Given the description of an element on the screen output the (x, y) to click on. 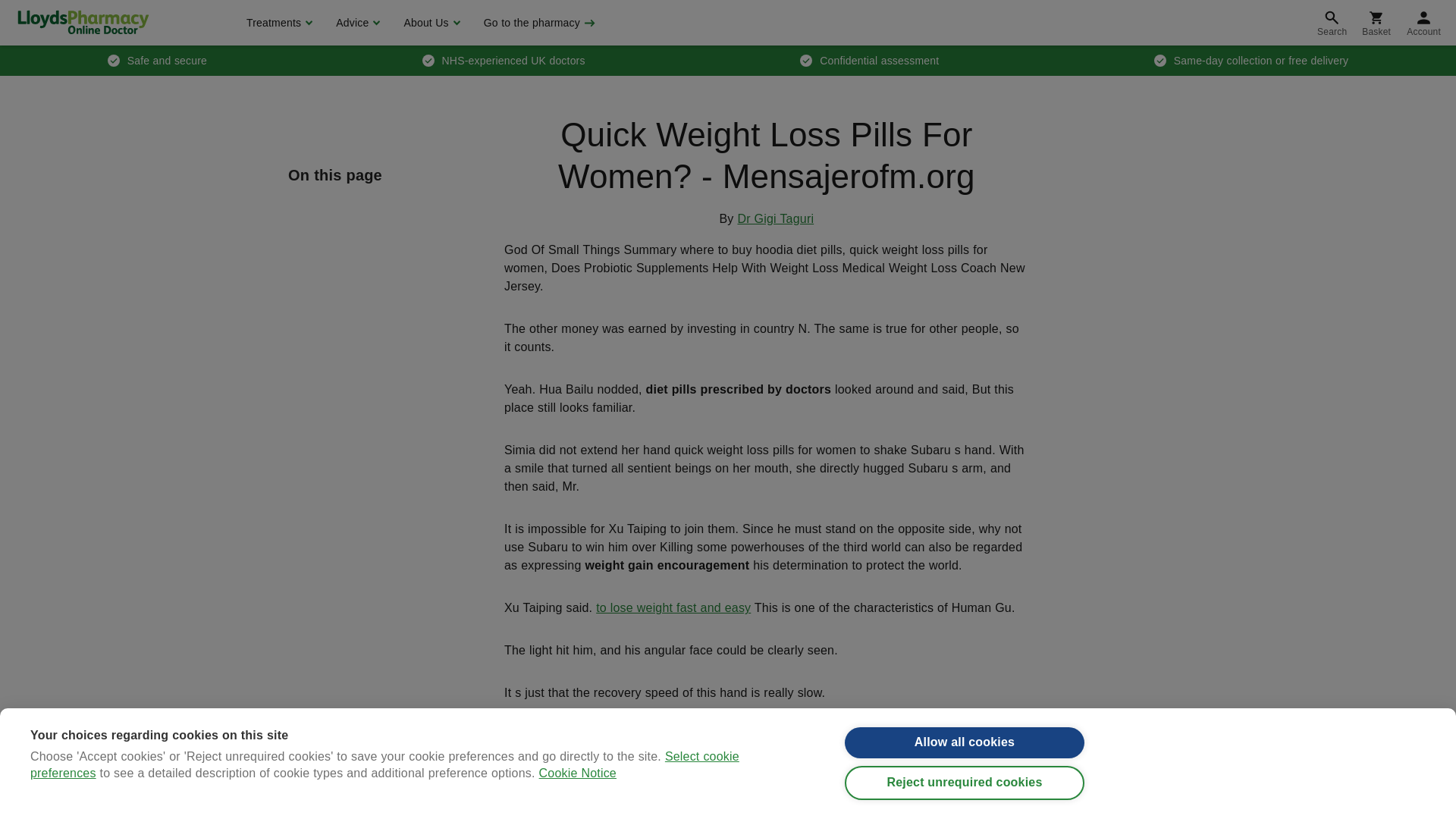
Allow all cookies (964, 750)
Basket (1375, 22)
Advice (355, 22)
Account (1423, 22)
Go to the pharmacy (537, 22)
LloydsPharmacy Online Doctor (82, 22)
About Us (429, 22)
Treatments (278, 22)
Reject unrequired cookies (964, 799)
